Given the description of an element on the screen output the (x, y) to click on. 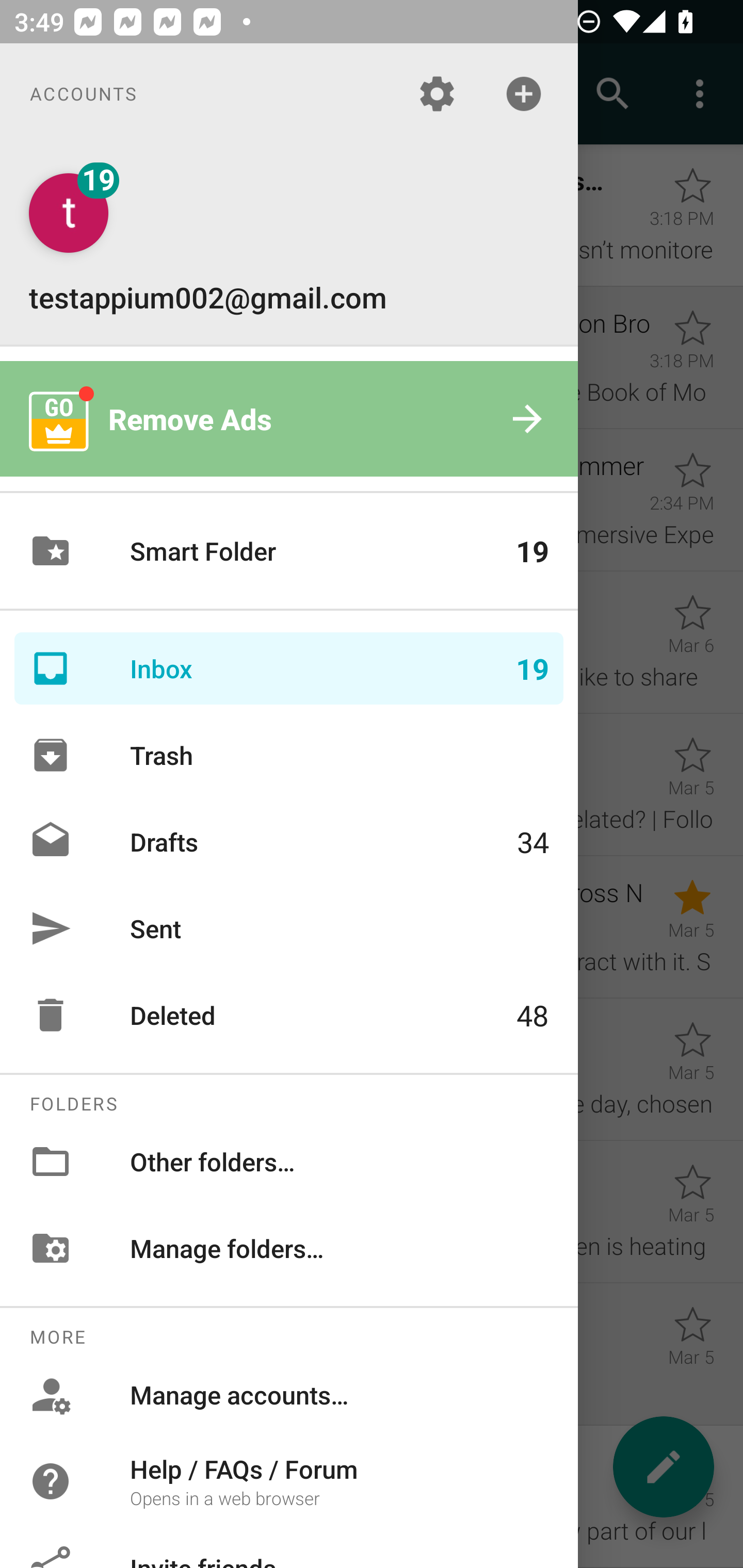
testappium002@gmail.com (289, 244)
Remove Ads (289, 418)
Smart Folder 19 (289, 551)
Inbox 19 (289, 668)
Trash (289, 754)
Drafts 34 (289, 841)
Sent (289, 928)
Deleted 48 (289, 1015)
Other folders… (289, 1160)
Manage folders… (289, 1248)
Manage accounts… (289, 1394)
Help / FAQs / Forum Opens in a web browser (289, 1480)
